Given the description of an element on the screen output the (x, y) to click on. 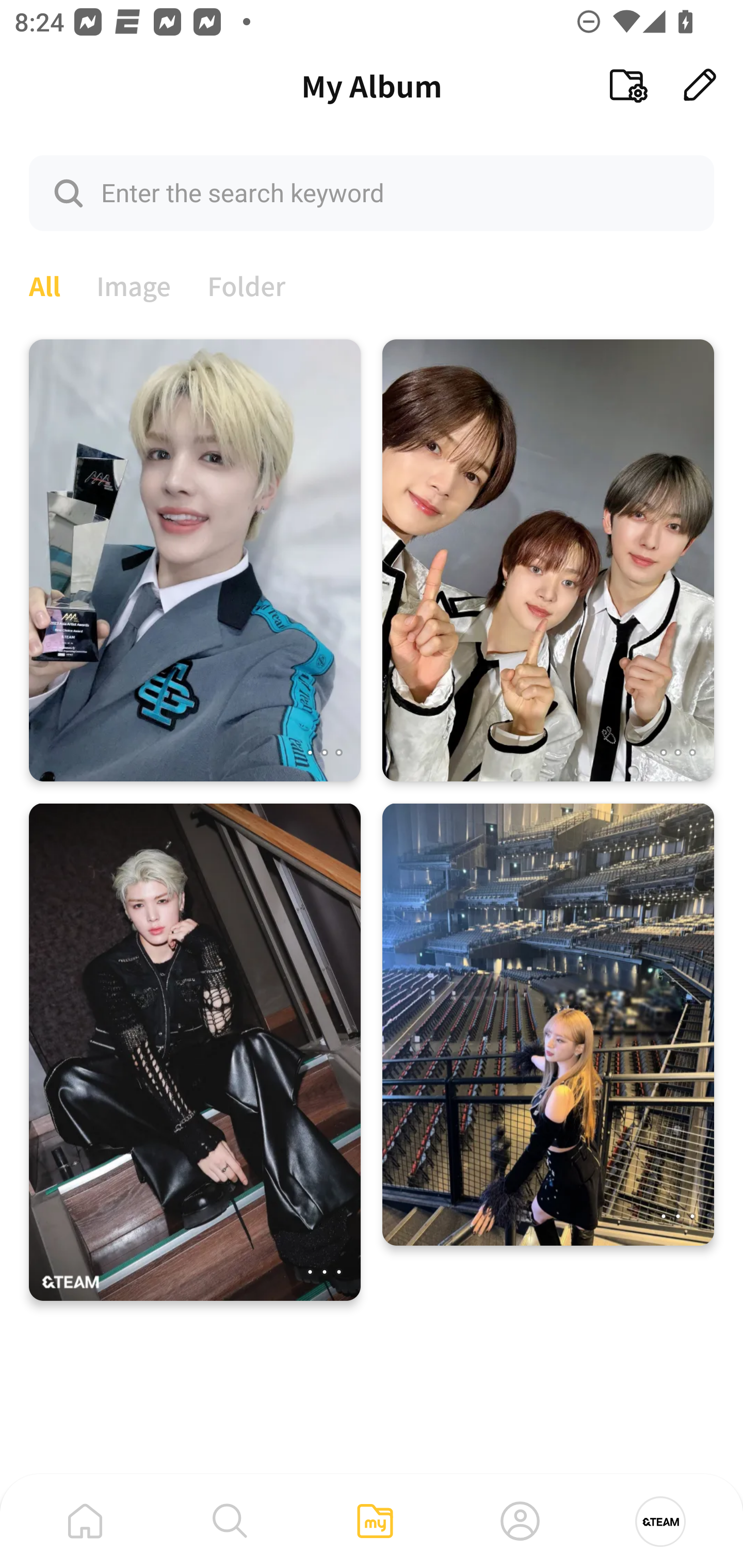
Enter the search keyword (371, 192)
All (44, 284)
Image (133, 284)
Folder (246, 284)
